Given the description of an element on the screen output the (x, y) to click on. 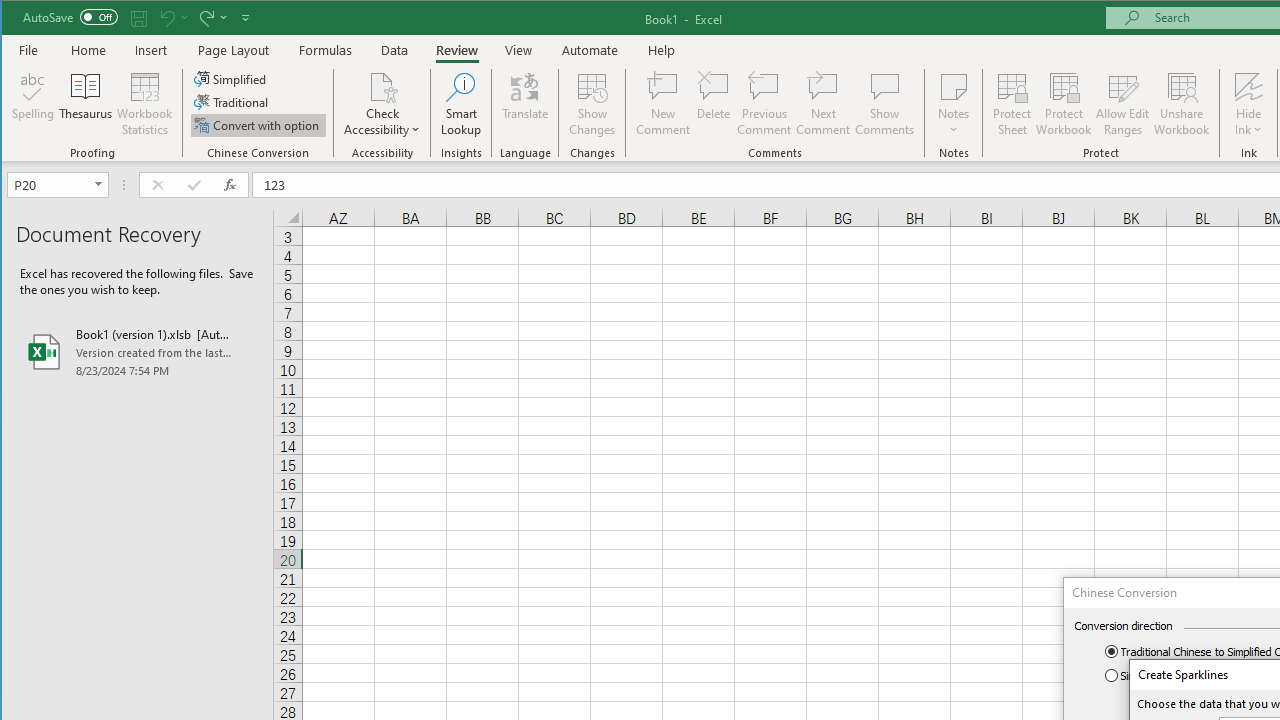
Notes (954, 104)
New Comment (662, 104)
Check Accessibility (381, 86)
Delete (713, 104)
Smart Lookup (461, 104)
Simplified (231, 78)
Translate (525, 104)
Hide Ink (1248, 104)
Check Accessibility (381, 104)
